Given the description of an element on the screen output the (x, y) to click on. 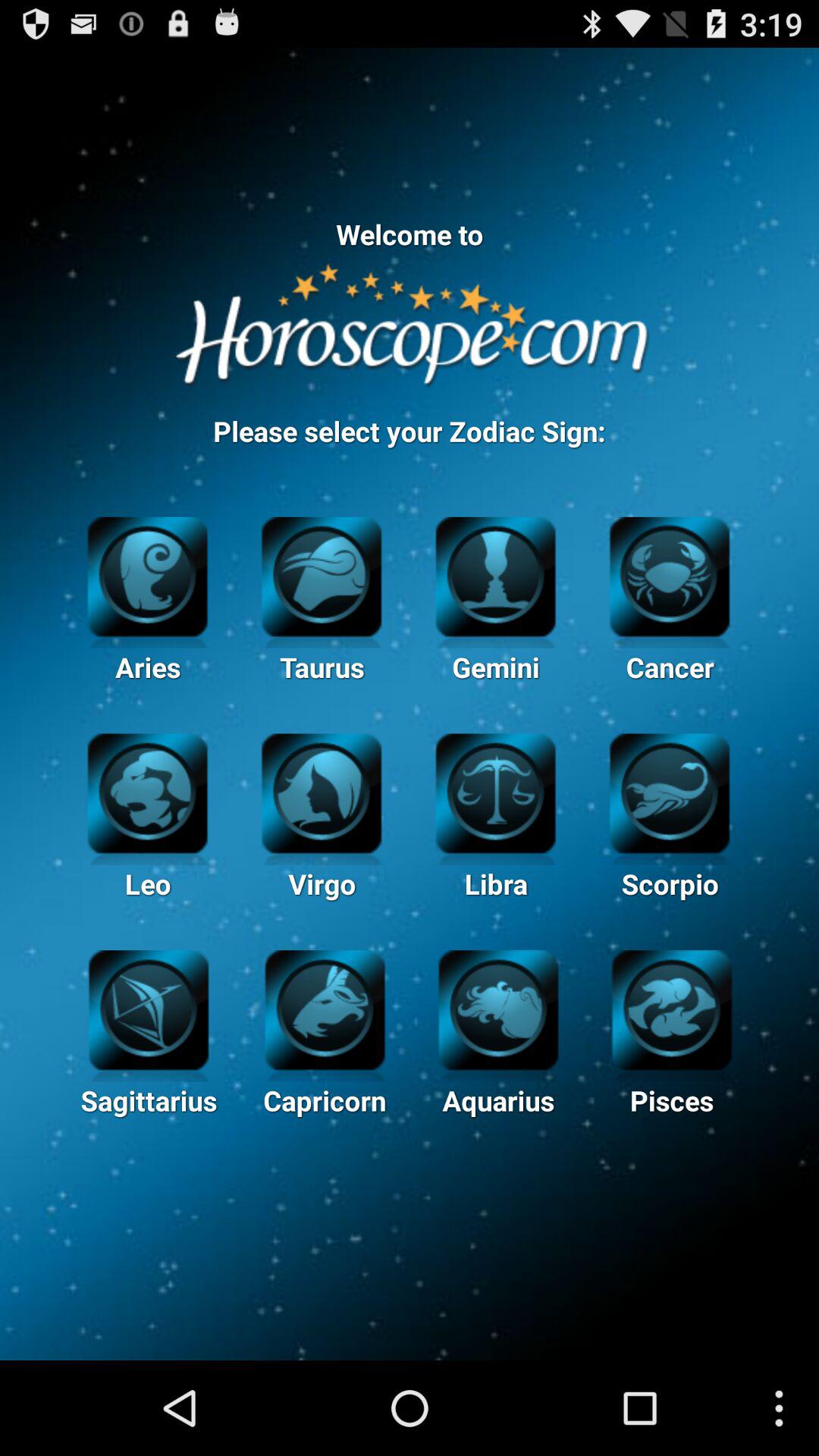
leo (147, 791)
